Given the description of an element on the screen output the (x, y) to click on. 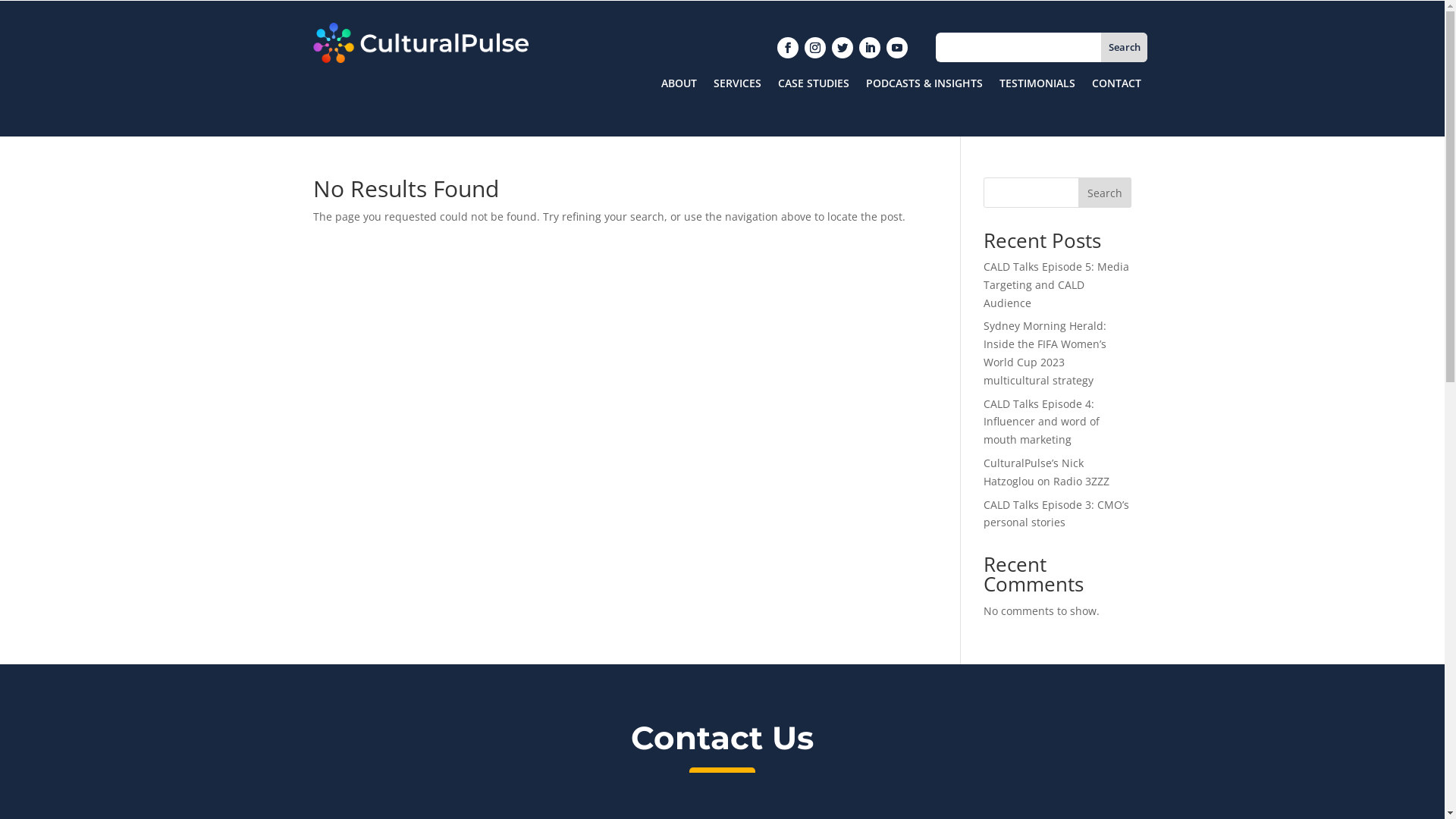
Follow on Instagram Element type: hover (814, 47)
PODCASTS & INSIGHTS Element type: text (924, 86)
TESTIMONIALS Element type: text (1037, 86)
Follow on Facebook Element type: hover (787, 47)
CulturalPulseLogo Element type: hover (419, 42)
ABOUT Element type: text (678, 86)
CONTACT Element type: text (1116, 86)
Follow on Youtube Element type: hover (896, 47)
Search Element type: text (1104, 192)
Search Element type: text (1124, 47)
Follow on Twitter Element type: hover (842, 47)
CASE STUDIES Element type: text (813, 86)
CALD Talks Episode 5: Media Targeting and CALD Audience Element type: text (1056, 284)
Follow on LinkedIn Element type: hover (869, 47)
SERVICES Element type: text (737, 86)
CALD Talks Episode 4: Influencer and word of mouth marketing Element type: text (1041, 421)
